Given the description of an element on the screen output the (x, y) to click on. 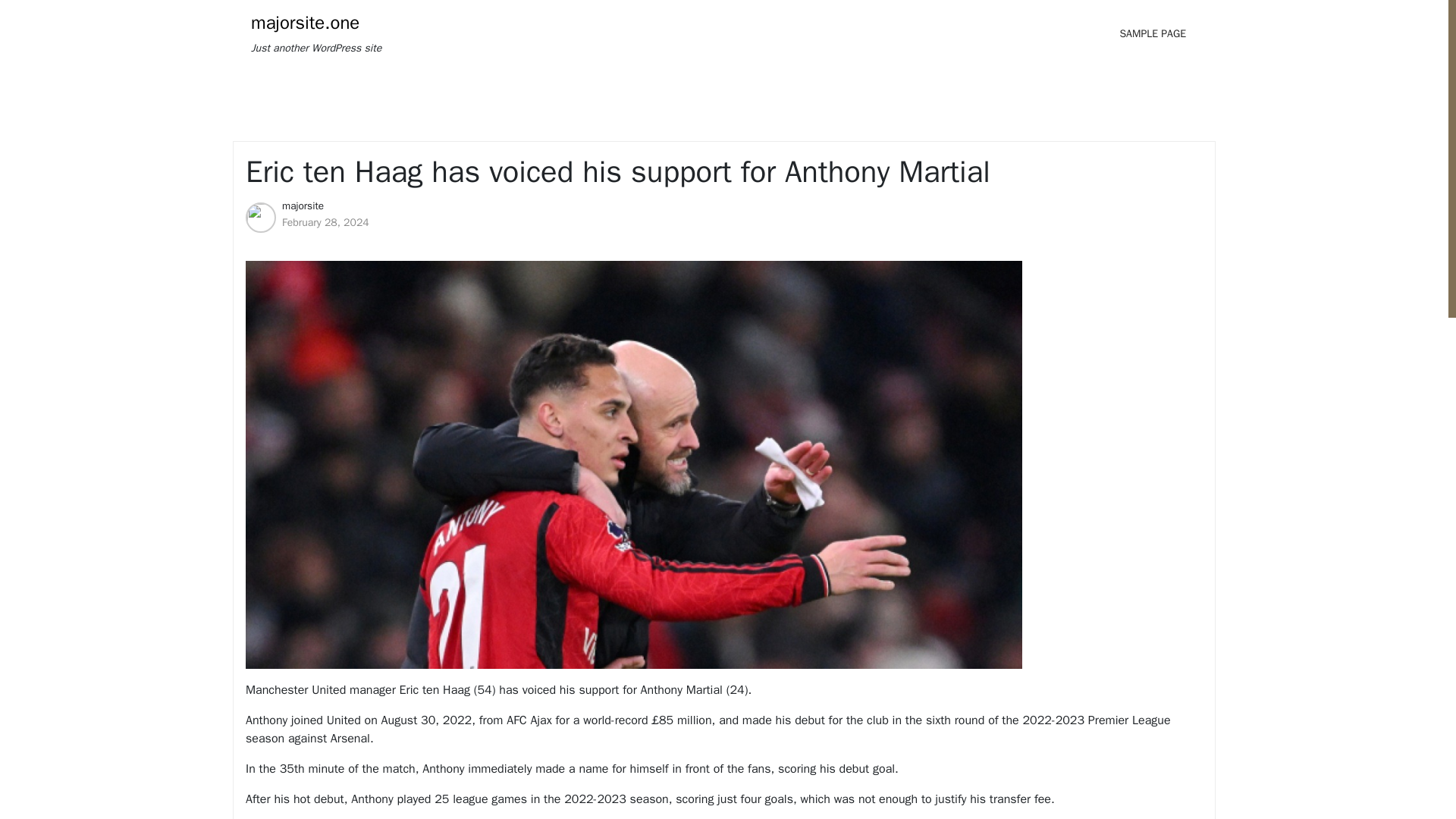
majorsite (302, 206)
majorsite.one (304, 23)
SAMPLE PAGE (1152, 33)
